Given the description of an element on the screen output the (x, y) to click on. 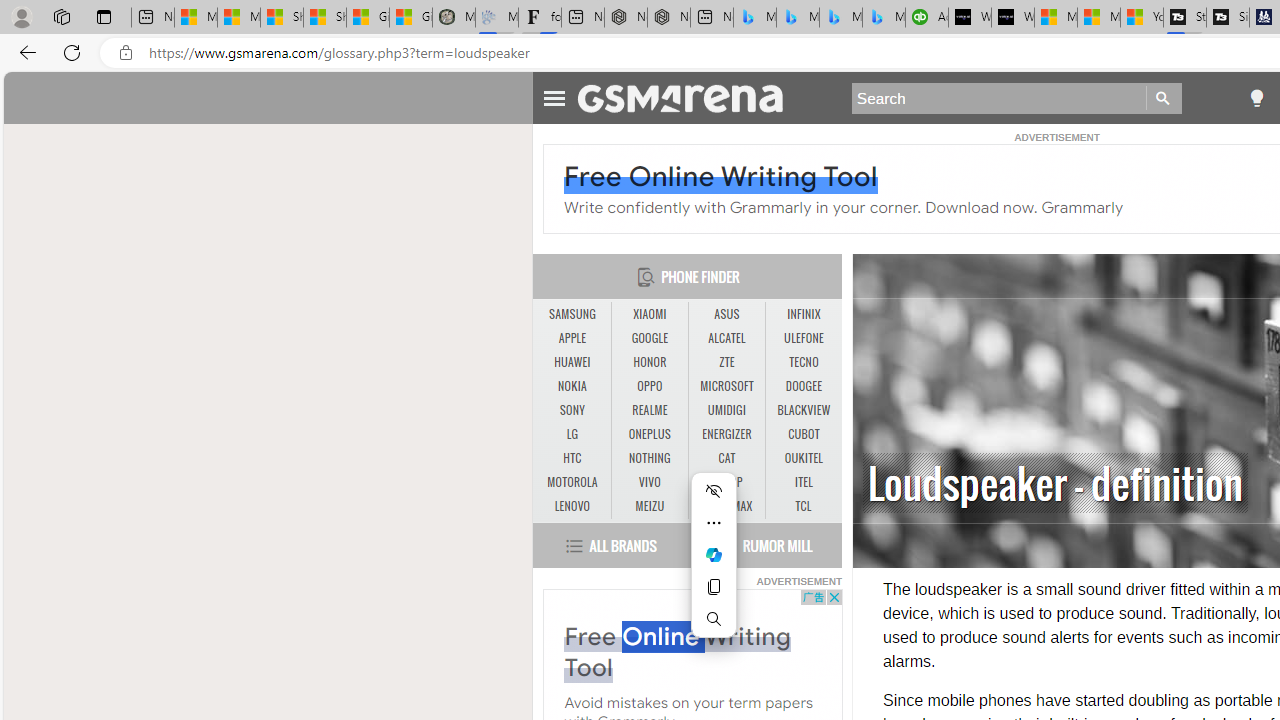
Nordace - #1 Japanese Best-Seller - Siena Smart Backpack (668, 17)
NOTHING (649, 458)
HUAWEI (571, 362)
LENOVO (571, 506)
Microsoft Start (1098, 17)
ITEL (803, 482)
CUBOT (803, 434)
AutomationID: anchor (689, 97)
TECNO (803, 362)
HUAWEI (571, 362)
DOOGEE (803, 385)
MEIZU (649, 506)
MICROSOFT (726, 386)
ONEPLUS (649, 434)
